Given the description of an element on the screen output the (x, y) to click on. 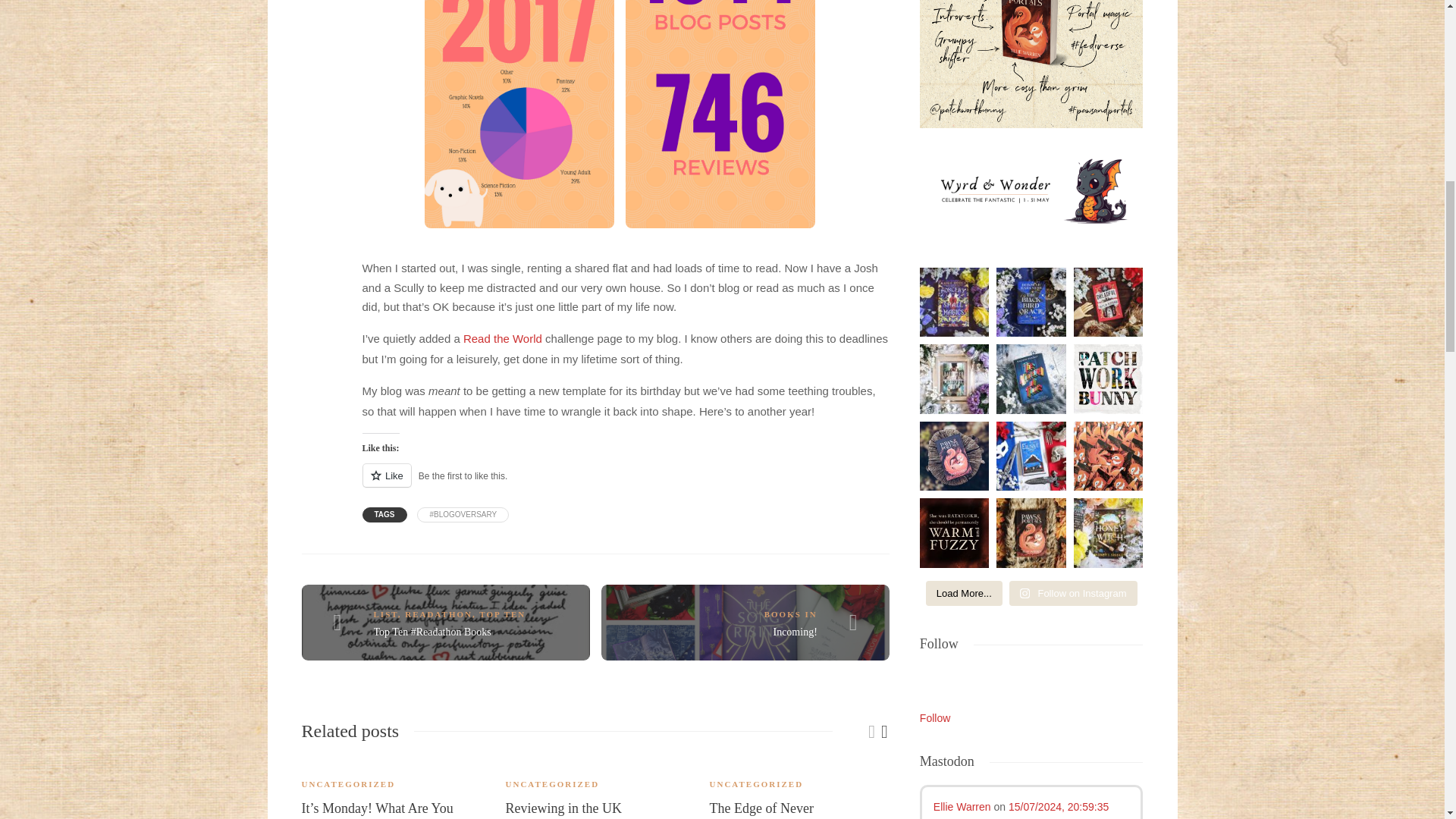
Like or Reblog (625, 484)
Follow Button (1031, 674)
